Given the description of an element on the screen output the (x, y) to click on. 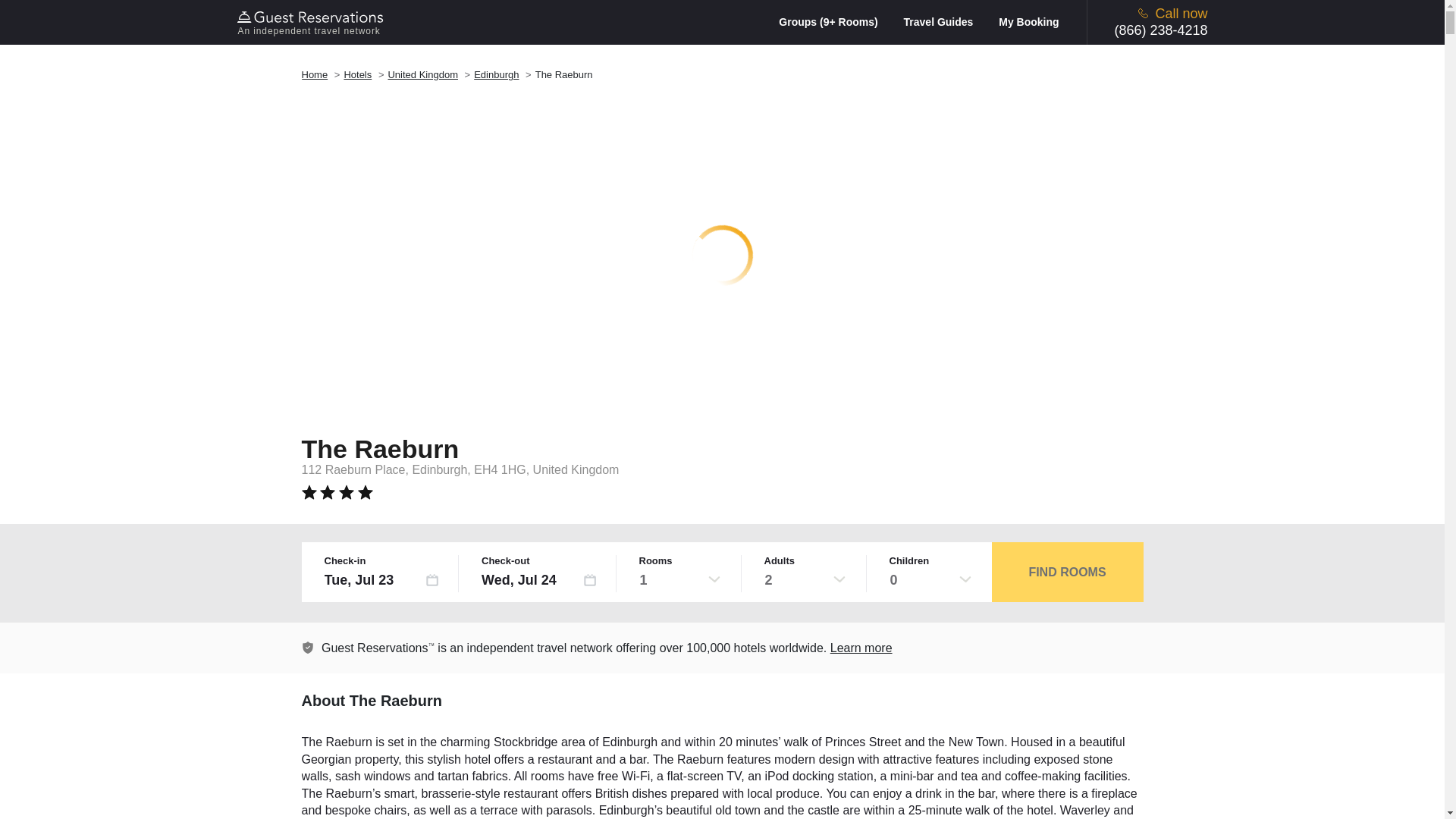
My Booking (1028, 21)
1 (679, 580)
Edinburgh (496, 74)
Hotels (357, 74)
An independent travel network (311, 22)
Travel Guides (949, 21)
Tue, Jul 23 (381, 580)
Home (315, 74)
2 (805, 580)
Guest Reservations (311, 22)
0 (930, 580)
call (1143, 13)
Guest Reservations - Logo (311, 16)
Wed, Jul 24 (538, 580)
Learn more (307, 647)
